Given the description of an element on the screen output the (x, y) to click on. 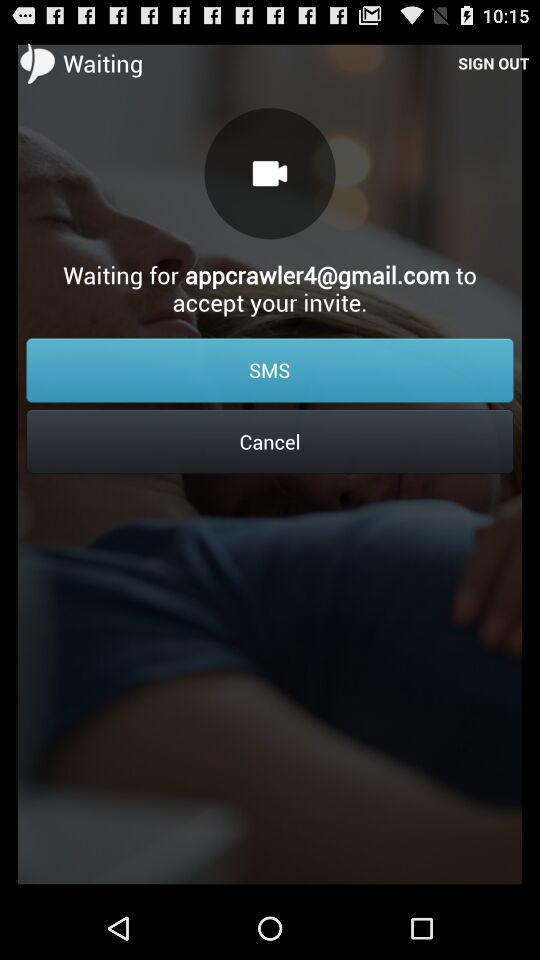
jump to sign out icon (493, 62)
